Given the description of an element on the screen output the (x, y) to click on. 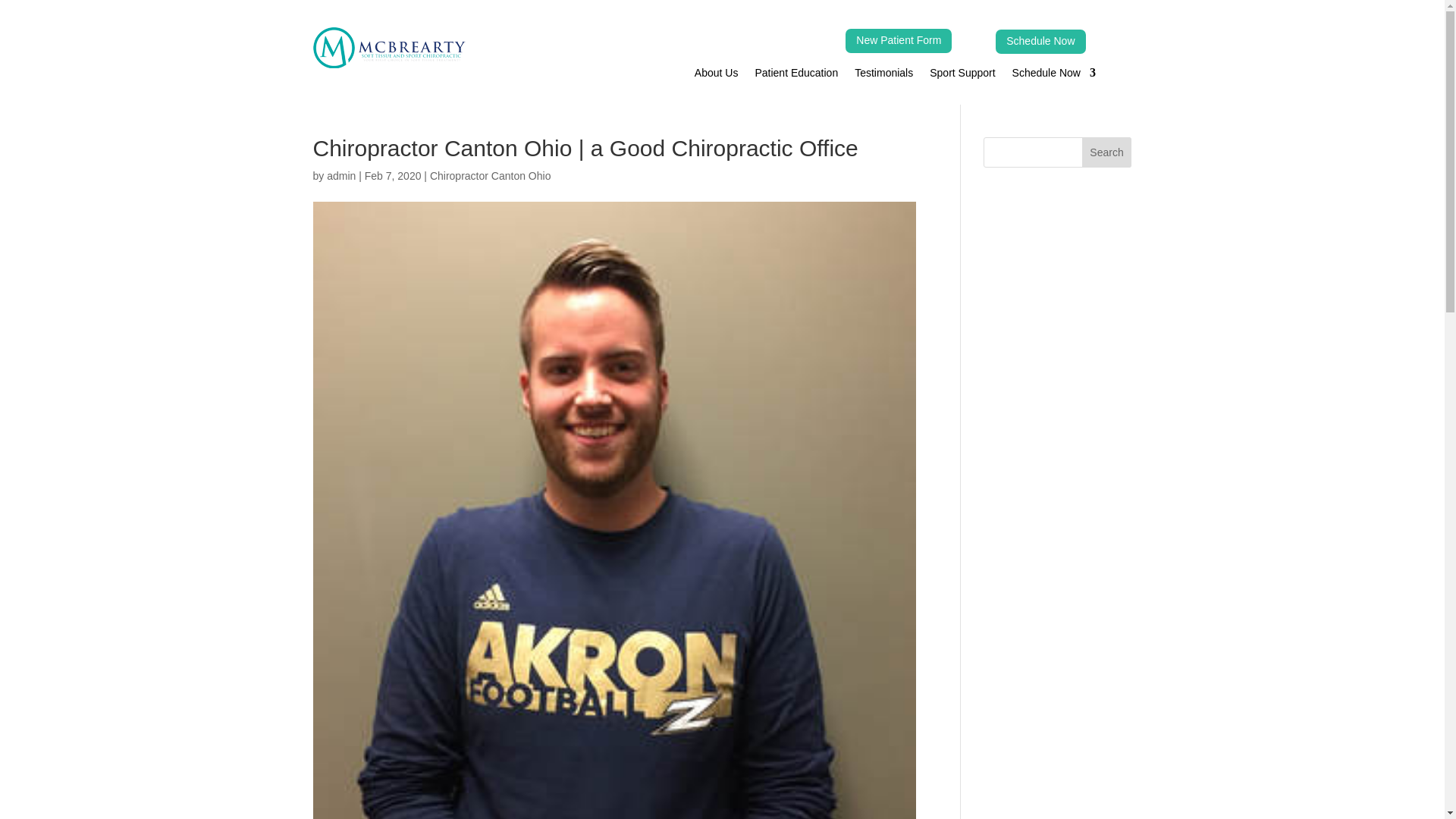
About Us (716, 75)
Search (1106, 152)
New Patient Form (898, 40)
Patient Education (796, 75)
Chiropractor Canton Ohio (490, 175)
Sport Support (962, 75)
Schedule Now (1053, 75)
Search (1106, 152)
admin (340, 175)
Schedule Now (1040, 41)
Logo Website Version 1 McBrearty (388, 47)
Testimonials (883, 75)
Posts by admin (340, 175)
